Given the description of an element on the screen output the (x, y) to click on. 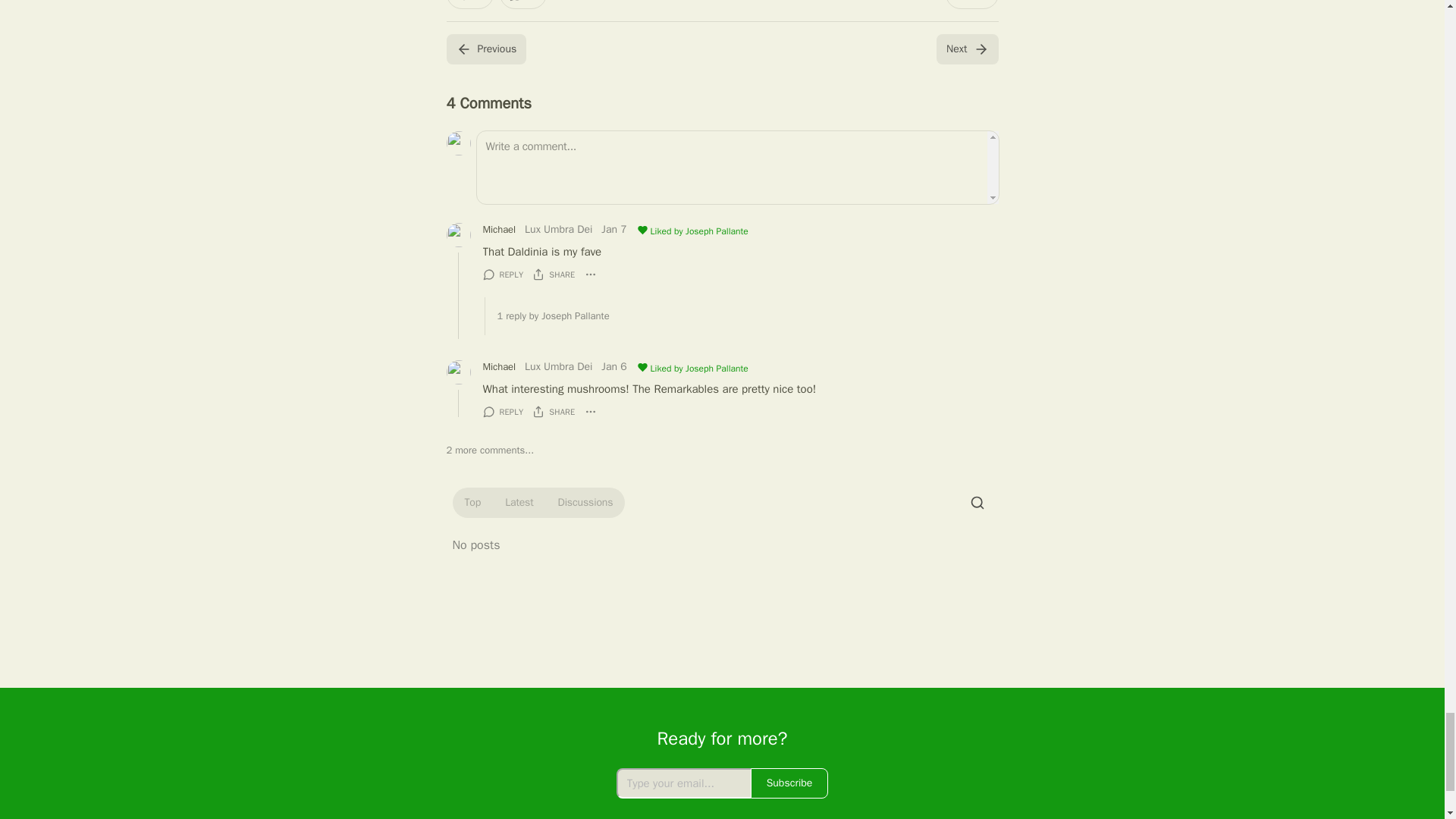
6 (469, 4)
